Given the description of an element on the screen output the (x, y) to click on. 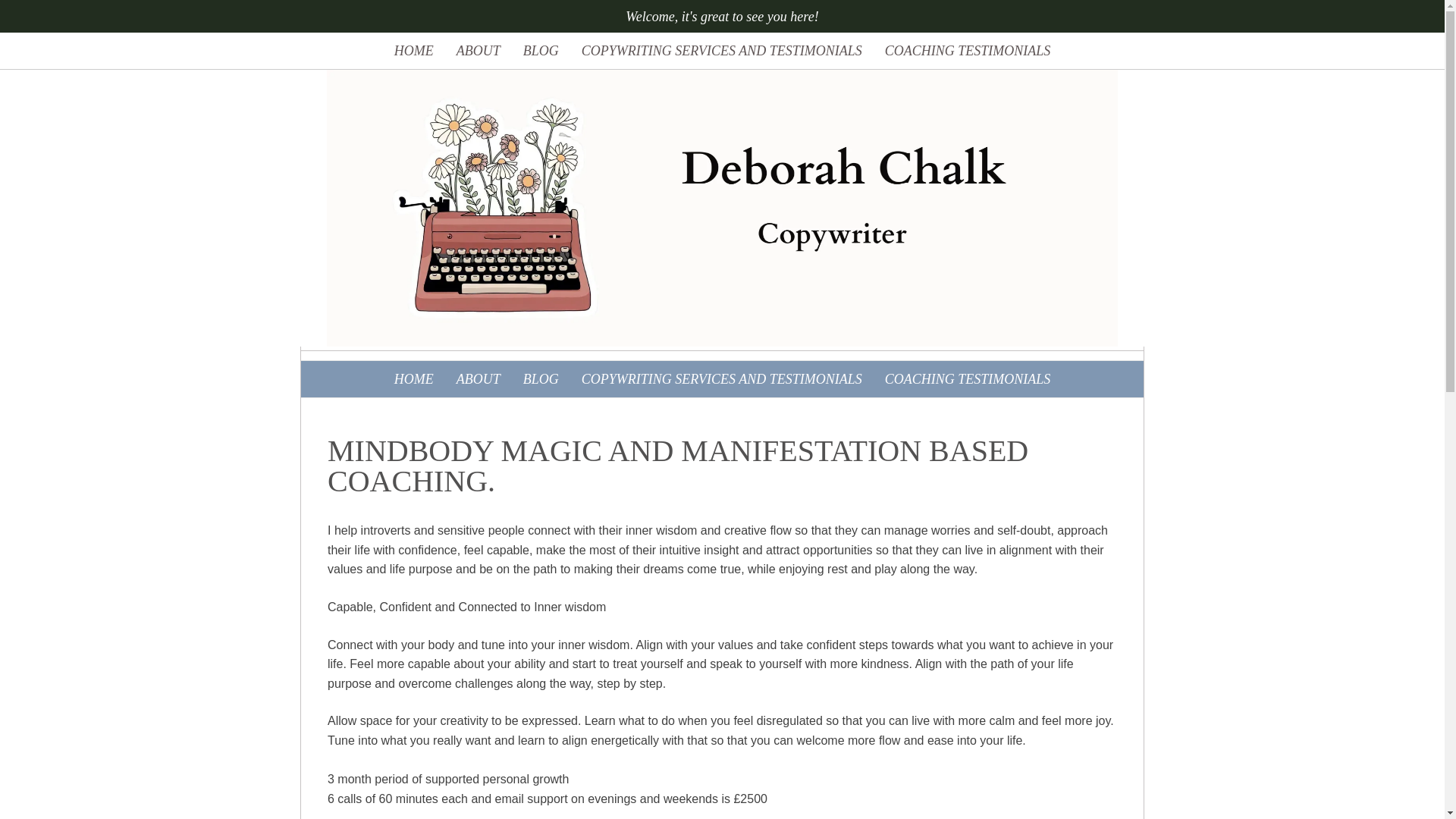
HOME (413, 50)
HOME (413, 379)
COPYWRITING SERVICES AND TESTIMONIALS (721, 379)
COACHING TESTIMONIALS (967, 379)
BLOG (541, 379)
COACHING TESTIMONIALS (967, 50)
ABOUT (478, 379)
BLOG (541, 50)
ABOUT (478, 50)
COPYWRITING SERVICES AND TESTIMONIALS (721, 50)
